Given the description of an element on the screen output the (x, y) to click on. 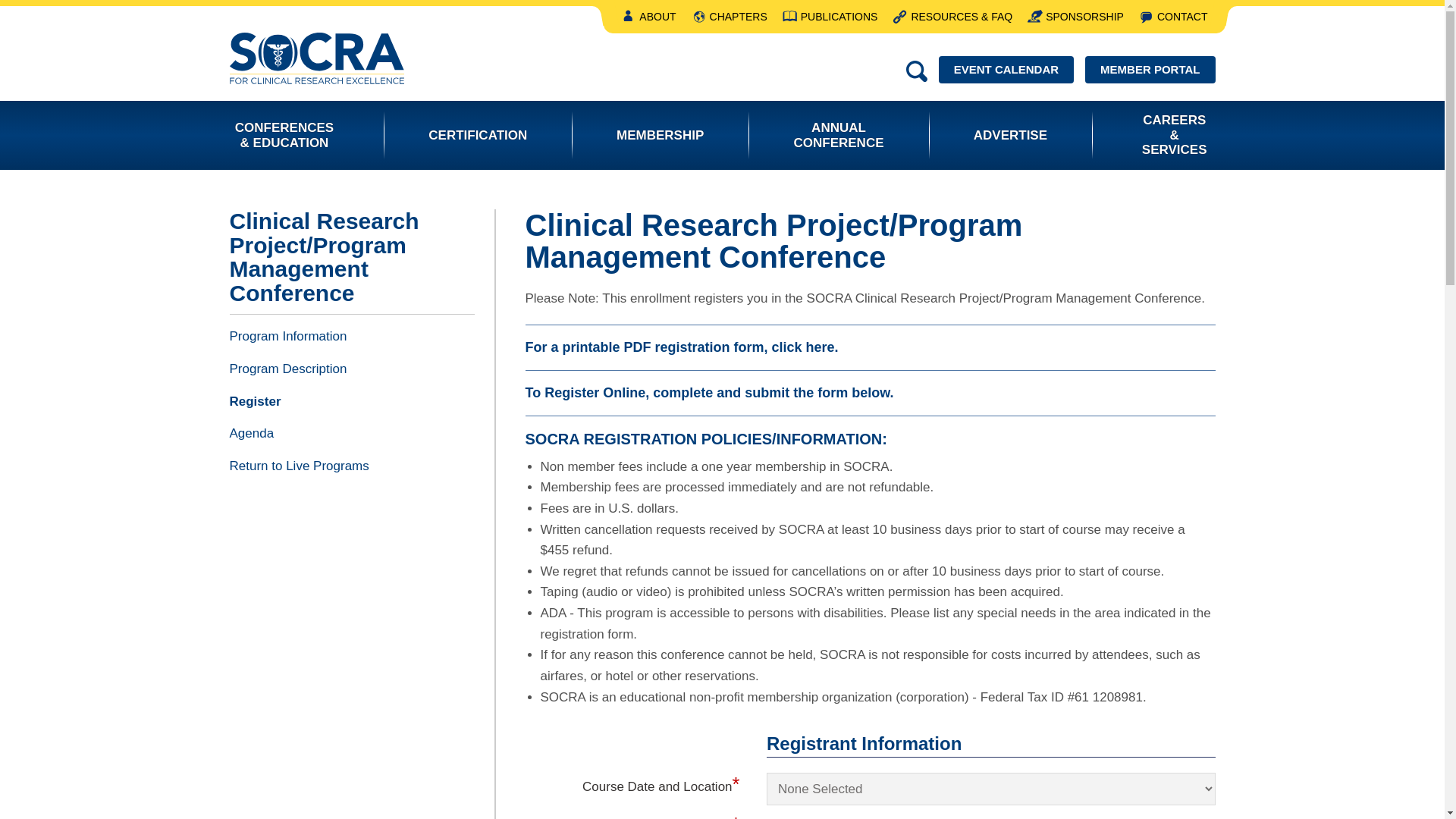
PUBLICATIONS (829, 16)
ABOUT (647, 16)
EVENT CALENDAR (1006, 69)
CHAPTERS (729, 16)
MEMBER PORTAL (1149, 69)
SPONSORSHIP (1075, 16)
CONTACT (1173, 16)
